Given the description of an element on the screen output the (x, y) to click on. 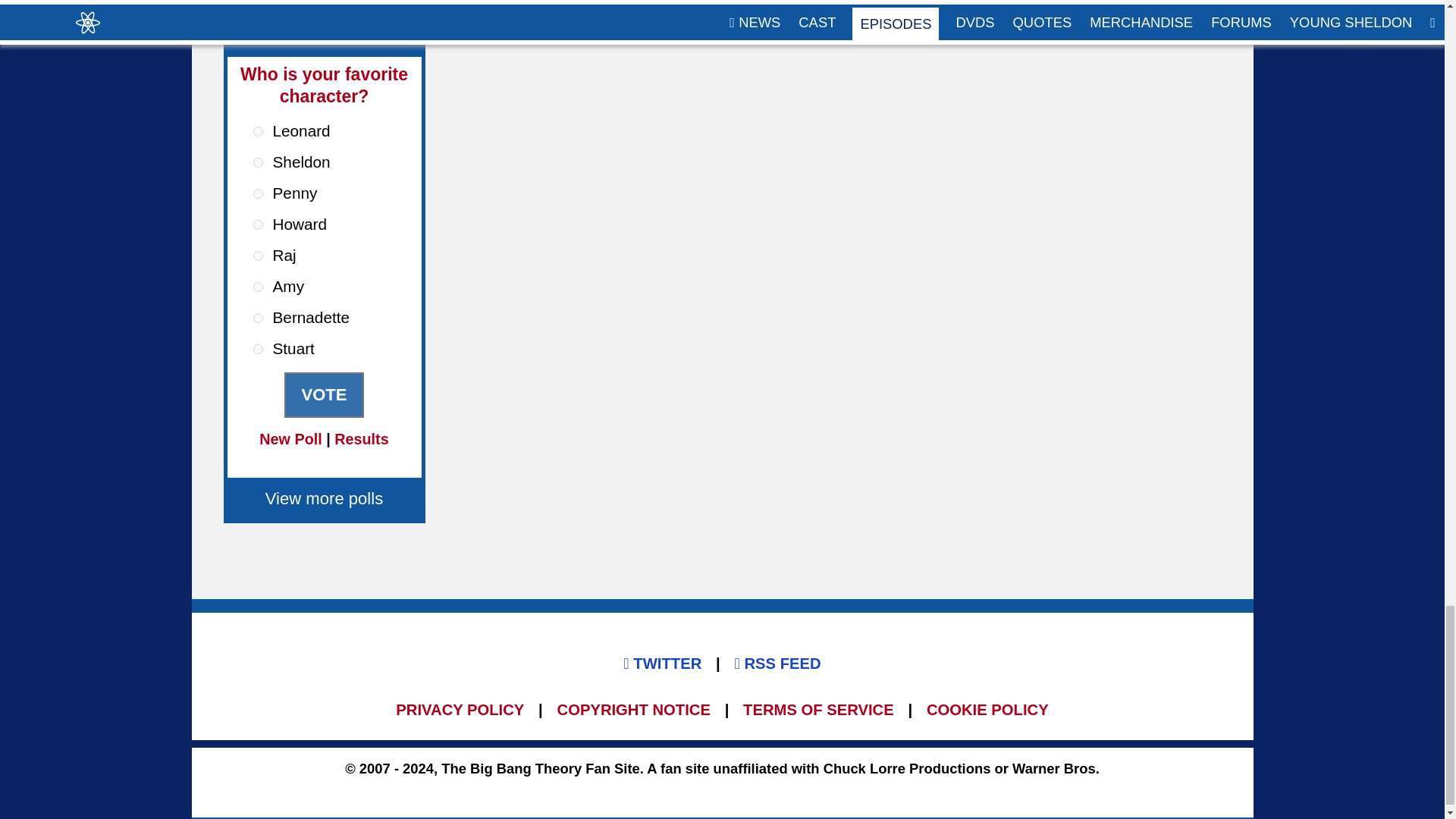
5 (258, 255)
4 (258, 225)
1 (258, 131)
8 (258, 348)
2 (258, 162)
Vote (322, 394)
6 (258, 286)
7 (258, 317)
3 (258, 194)
